Given the description of an element on the screen output the (x, y) to click on. 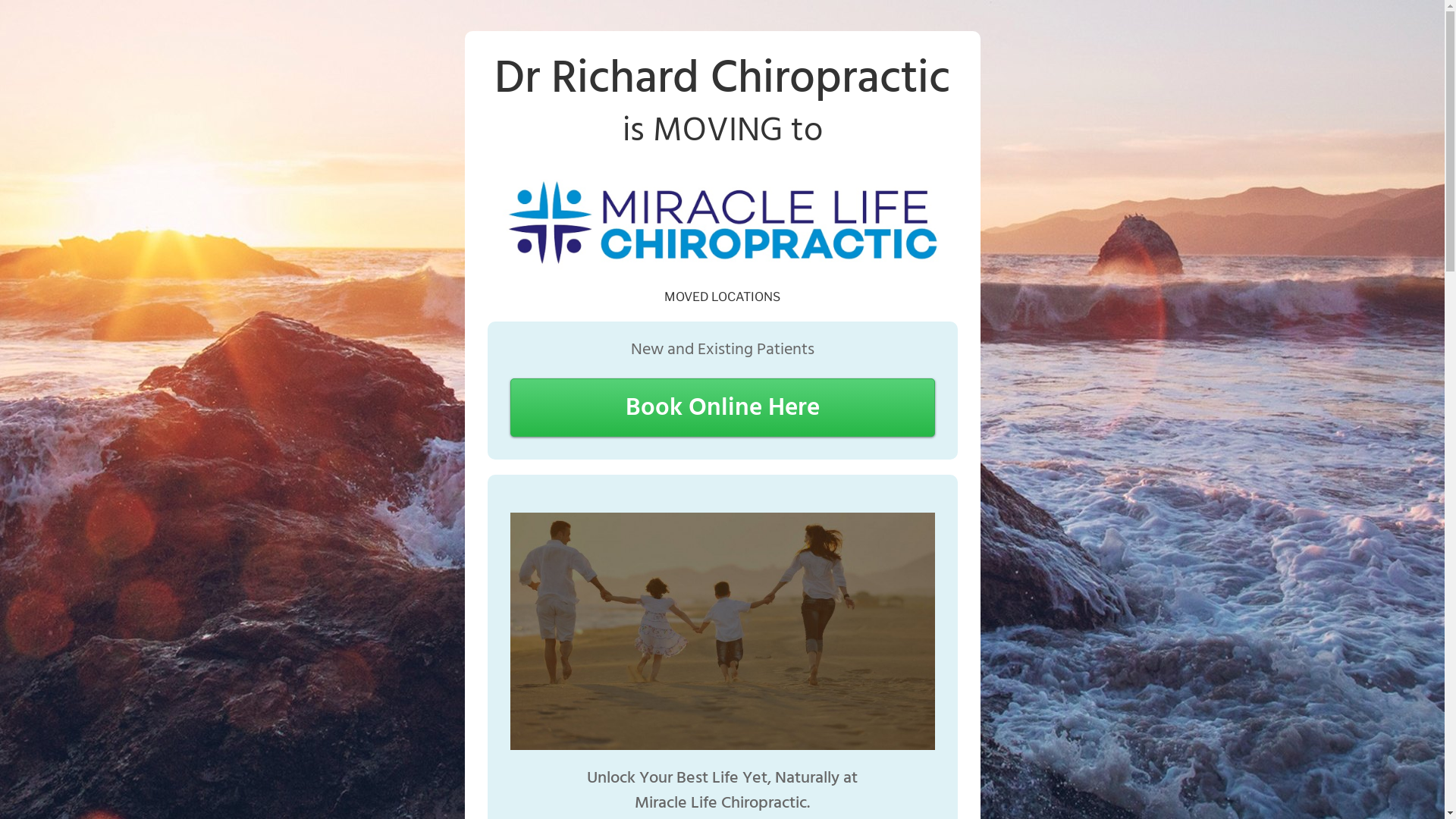
SMALL-Miracle Life White Background Element type: hover (721, 222)
Book Online Here Element type: text (721, 407)
Chiropractor in Brendale, North Brisbane Element type: hover (721, 630)
